Given the description of an element on the screen output the (x, y) to click on. 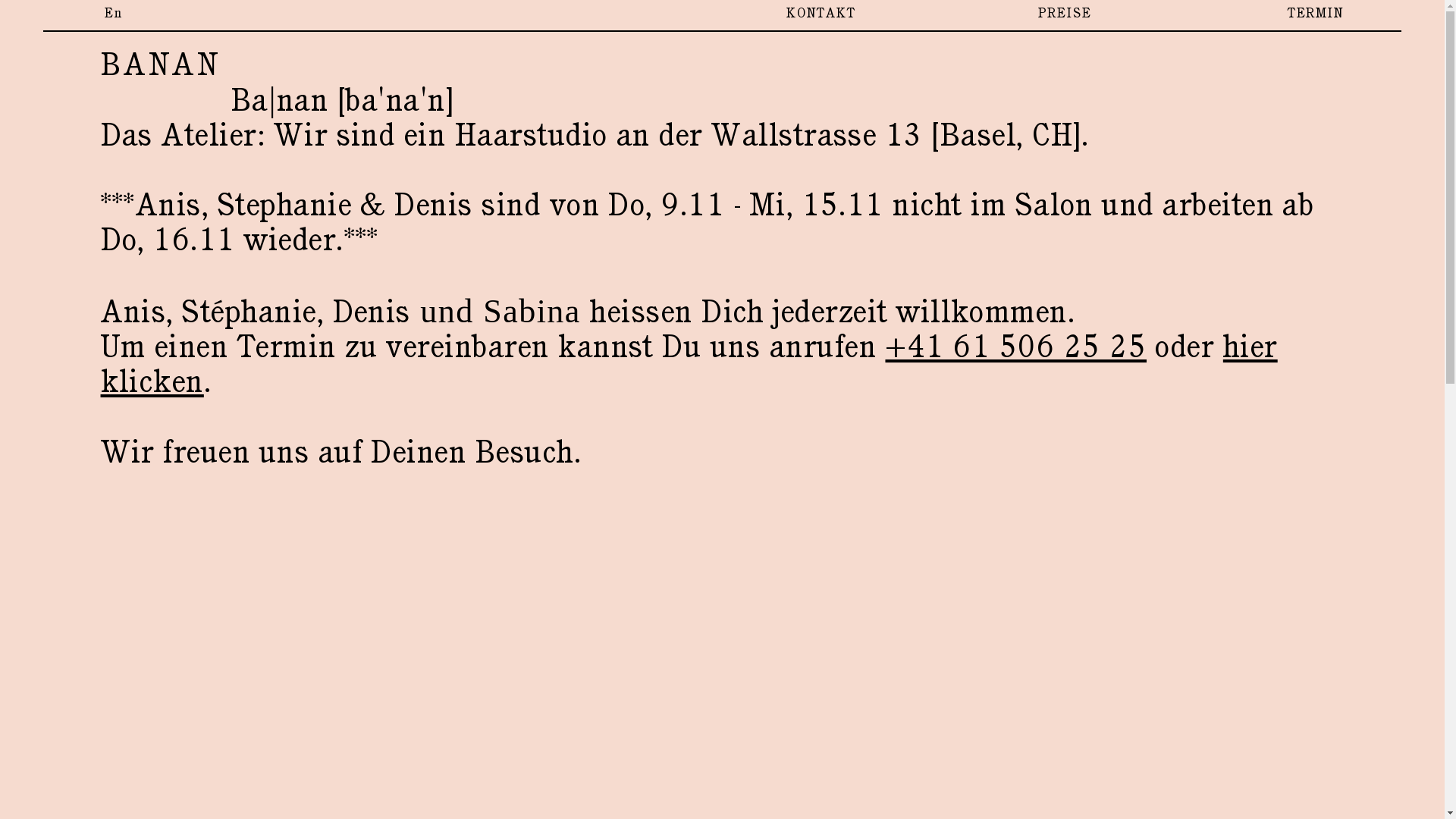
En Element type: text (112, 13)
Wallstrasse 13 [Basel, CH] Element type: text (896, 134)
PREISE Element type: text (1065, 13)
KONTAKT Element type: text (821, 13)
TERMIN Element type: text (1315, 13)
hier klicken Element type: text (688, 364)
